Given the description of an element on the screen output the (x, y) to click on. 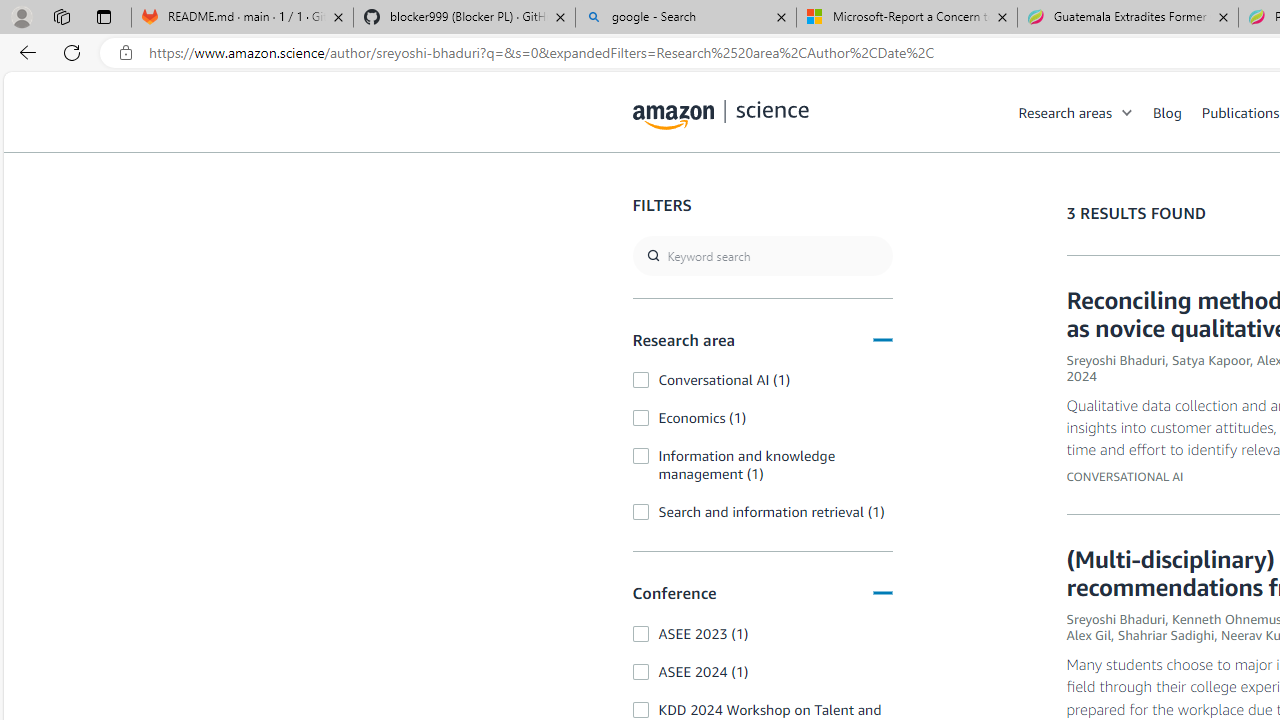
Open Sub Navigation (1128, 111)
Class: icon-magnify (654, 192)
amazon-science-logo.svg (721, 115)
Research areas (1085, 111)
Alex Gil (1089, 635)
